Given the description of an element on the screen output the (x, y) to click on. 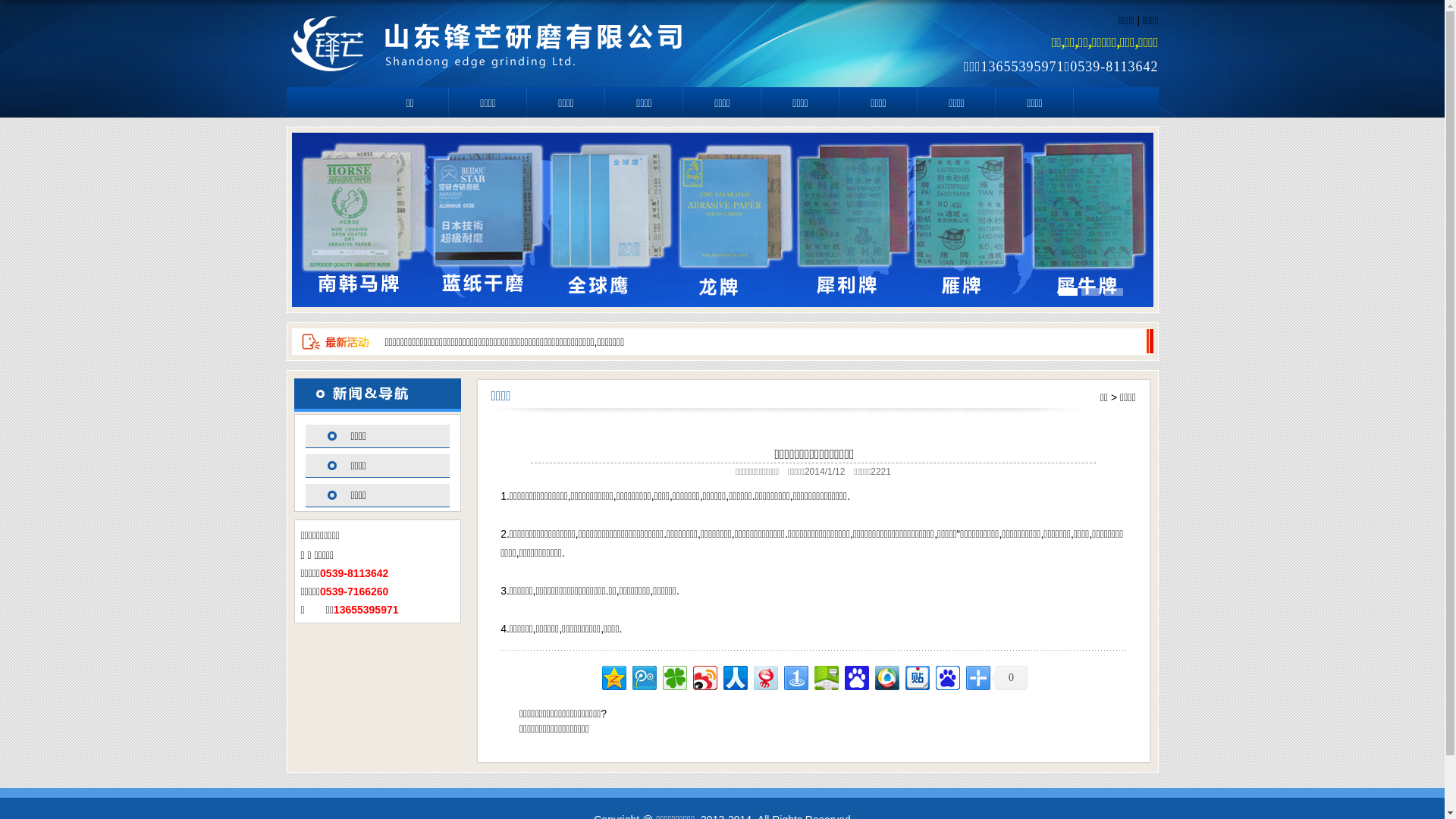
0 Element type: text (1009, 677)
